Given the description of an element on the screen output the (x, y) to click on. 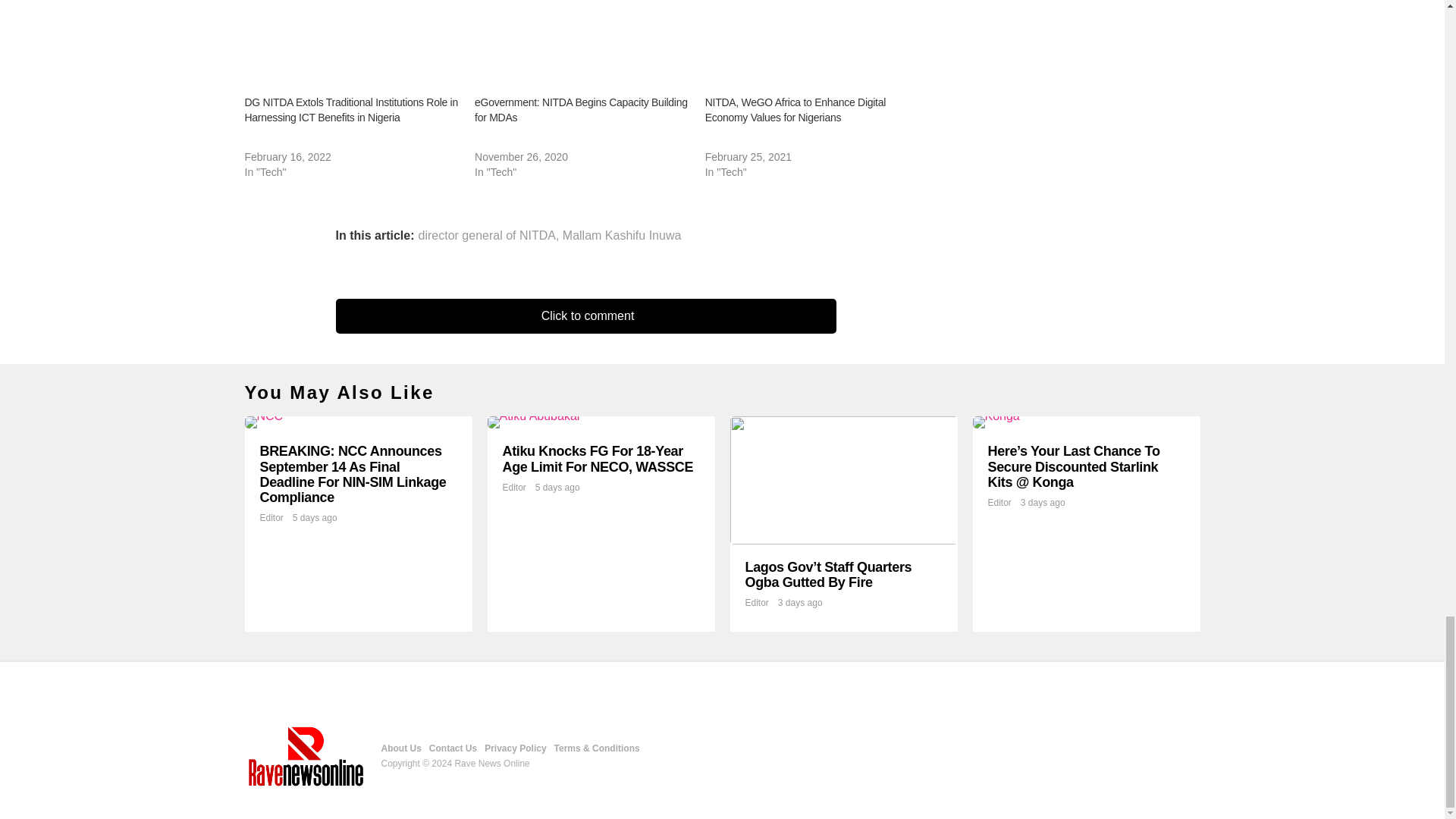
eGovernment: NITDA Begins Capacity Building for MDAs (582, 41)
eGovernment: NITDA Begins Capacity Building for MDAs (580, 109)
